Given the description of an element on the screen output the (x, y) to click on. 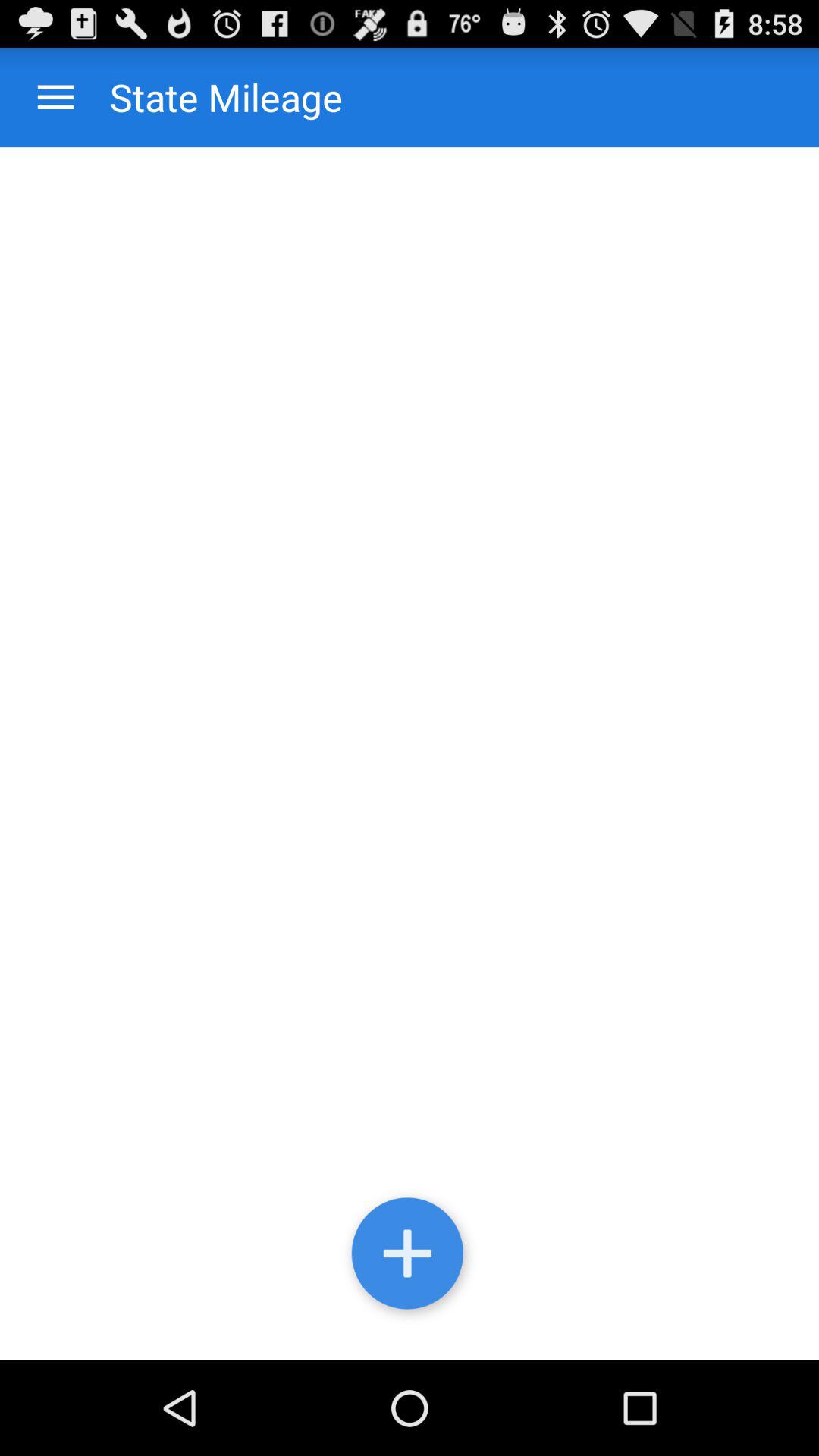
agg state mileage (409, 1256)
